Given the description of an element on the screen output the (x, y) to click on. 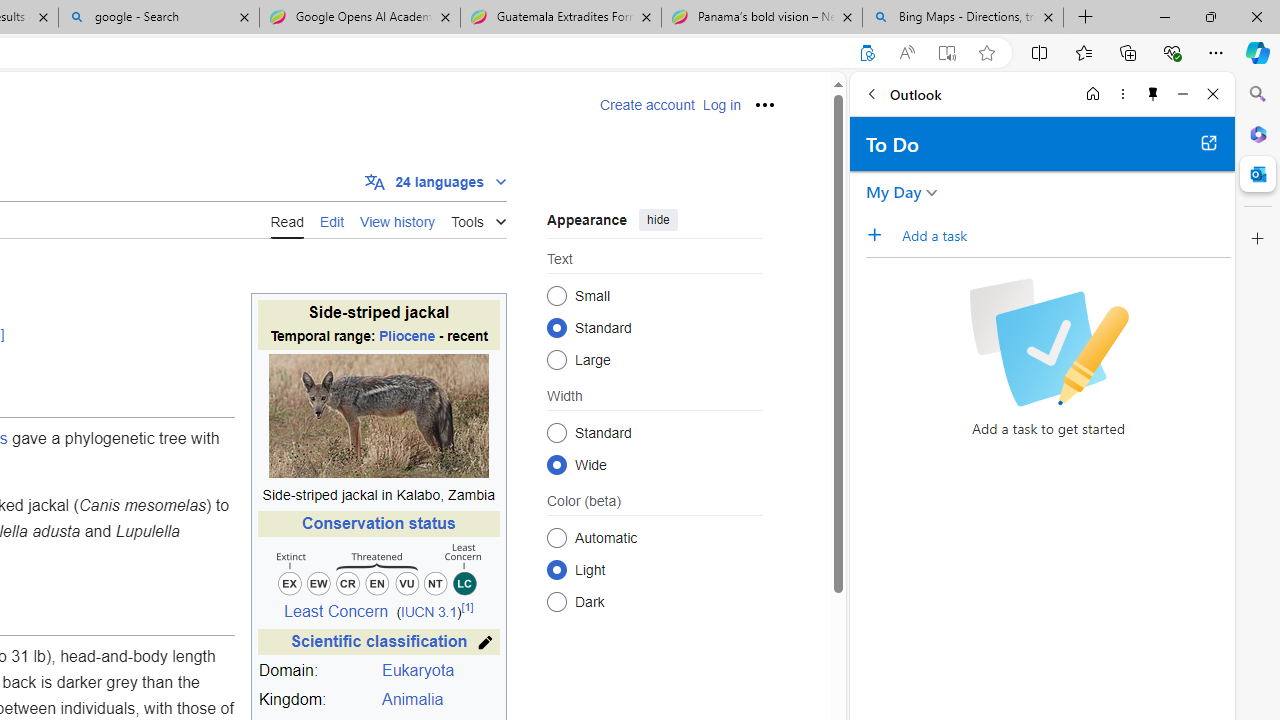
Conservation status (378, 524)
Eukaryota (440, 671)
Scientific classification (379, 641)
Large (556, 359)
Edit this classification (485, 642)
Wide (556, 464)
Create account (647, 105)
Google Opens AI Academy for Startups - Nearshore Americas (359, 17)
